Given the description of an element on the screen output the (x, y) to click on. 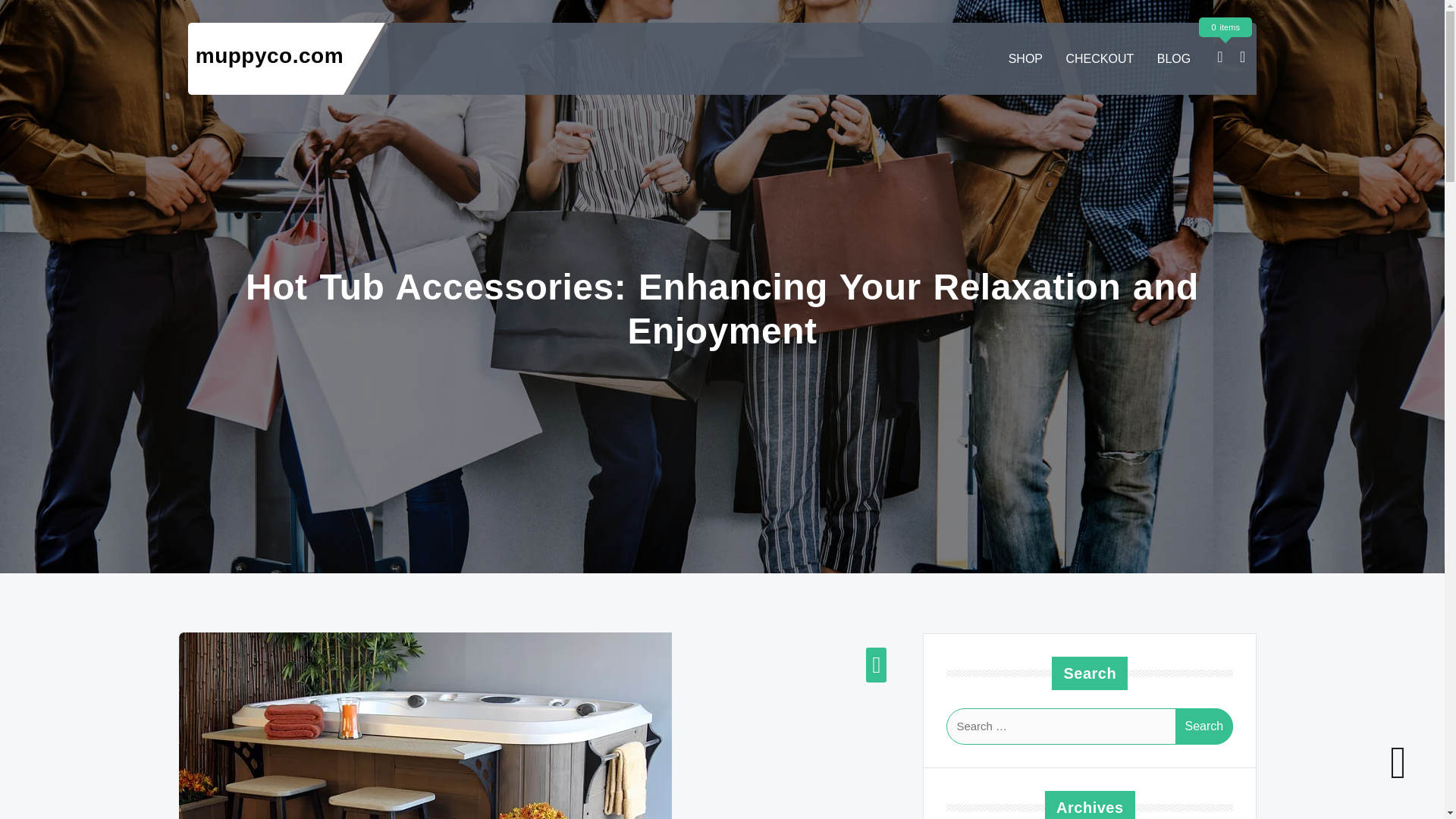
Search (1203, 726)
Search (1203, 726)
muppyco.com (269, 55)
Search (1203, 726)
CHECKOUT (1099, 58)
BLOG (1173, 58)
SHOP (1024, 58)
